Given the description of an element on the screen output the (x, y) to click on. 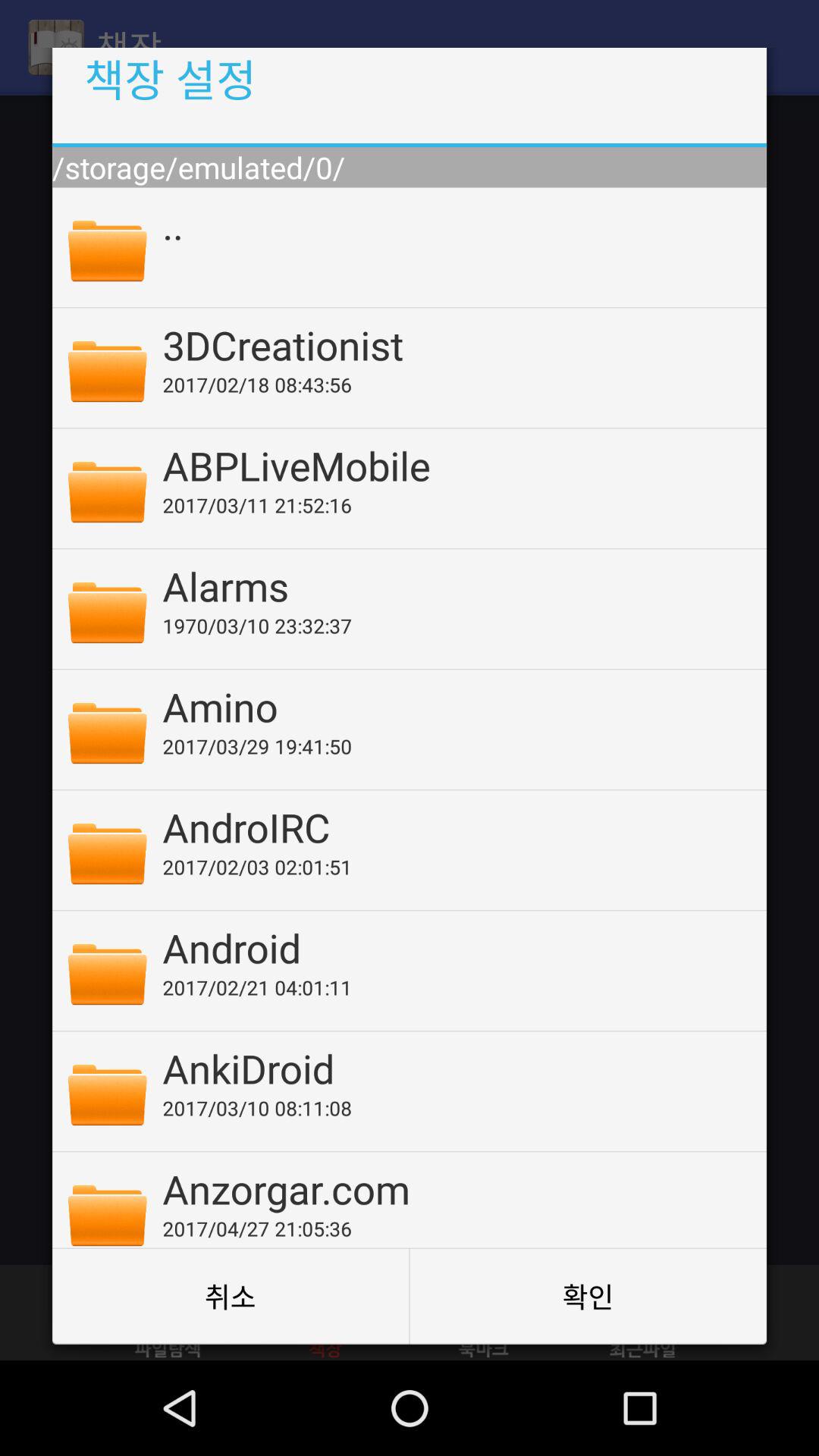
turn on the amino item (454, 706)
